Given the description of an element on the screen output the (x, y) to click on. 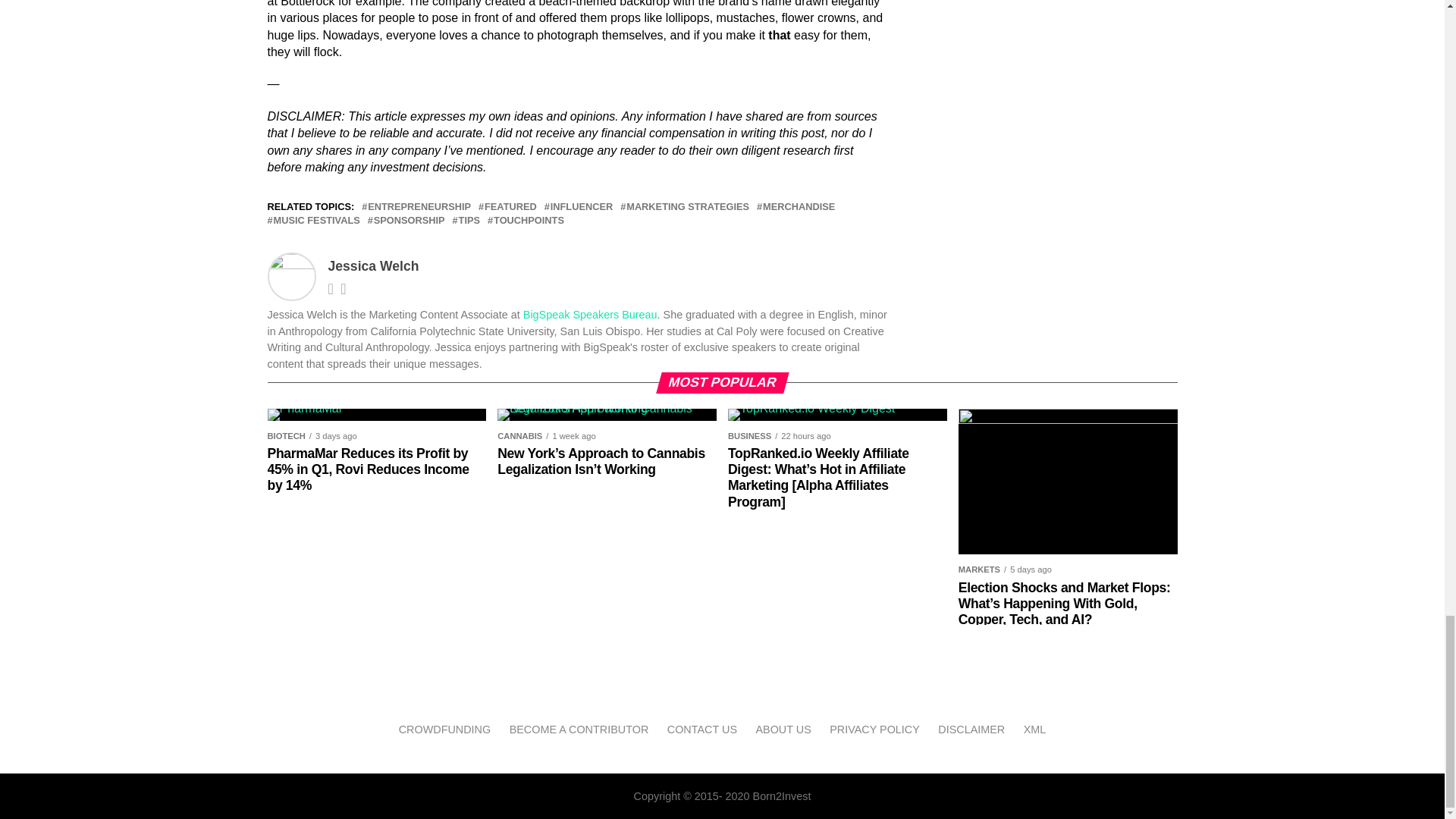
MUSIC FESTIVALS (316, 221)
FEATURED (510, 207)
ENTREPRENEURSHIP (419, 207)
MARKETING STRATEGIES (687, 207)
Posts by Jessica Welch (373, 265)
MERCHANDISE (798, 207)
INFLUENCER (581, 207)
